Given the description of an element on the screen output the (x, y) to click on. 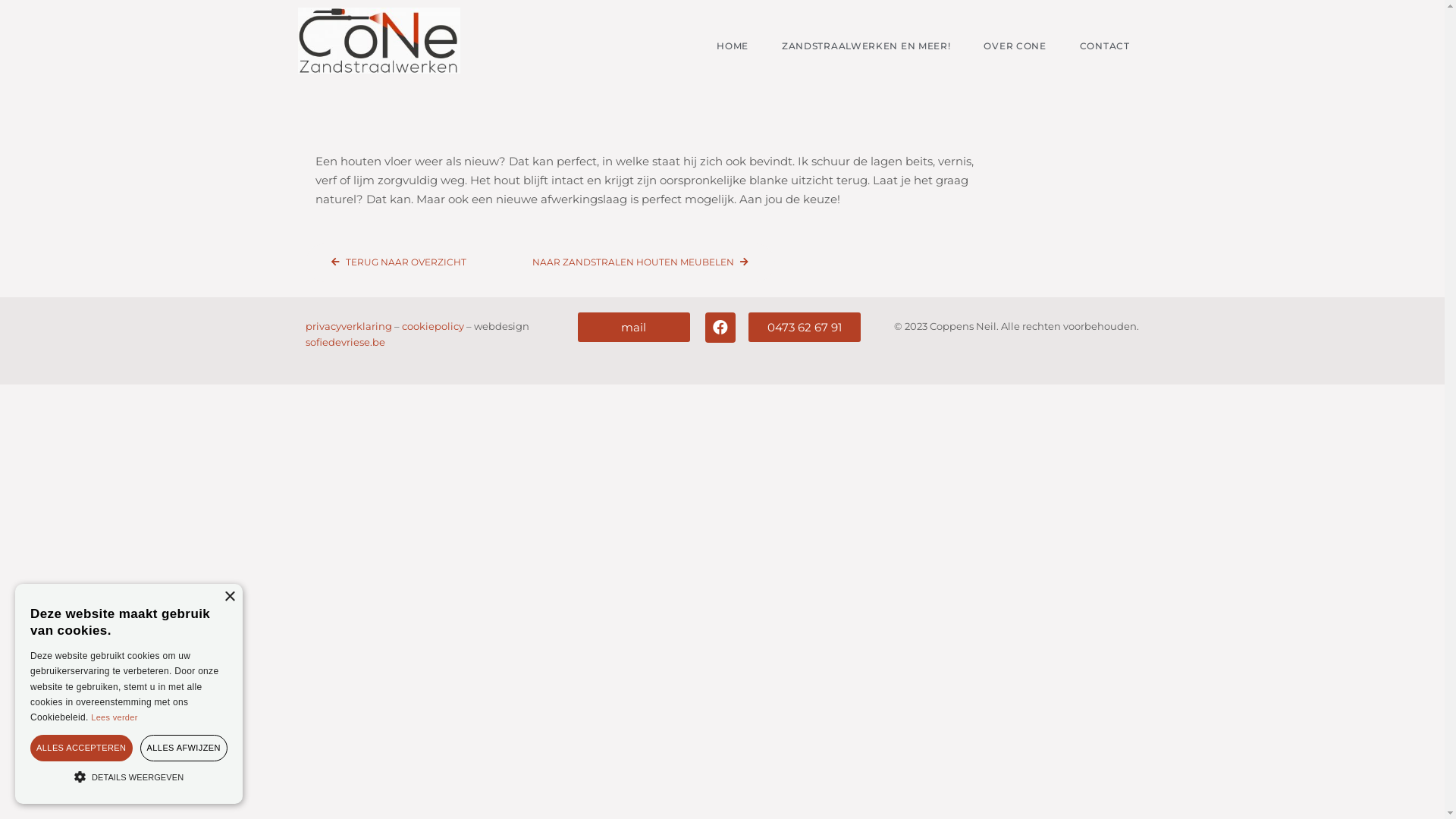
NAAR ZANDSTRALEN HOUTEN MEUBELEN Element type: text (640, 262)
HOME Element type: text (732, 46)
mail Element type: text (633, 327)
TERUG NAAR OVERZICHT Element type: text (398, 262)
OVER CONE Element type: text (1014, 46)
cookiepolicy Element type: text (432, 326)
sofiedevriese.be Element type: text (344, 341)
CONTACT Element type: text (1104, 46)
ZANDSTRAALWERKEN EN MEER! Element type: text (866, 46)
0473 62 67 91 Element type: text (804, 327)
Lees verder Element type: text (114, 716)
privacyverklaring Element type: text (347, 326)
